Given the description of an element on the screen output the (x, y) to click on. 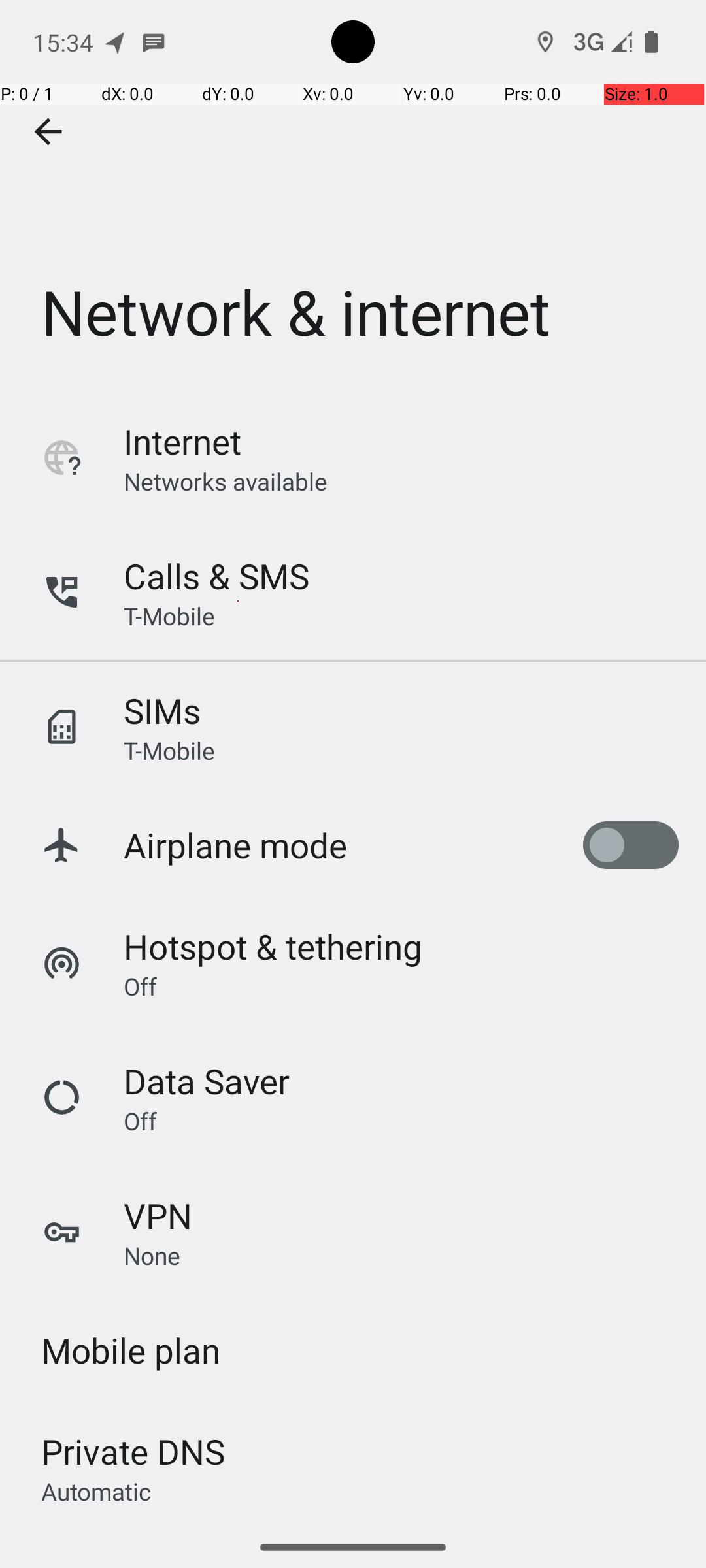
Internet Element type: android.widget.TextView (182, 441)
Networks available Element type: android.widget.TextView (225, 480)
Calls & SMS Element type: android.widget.TextView (216, 575)
T-Mobile Element type: android.widget.TextView (169, 615)
SIMs Element type: android.widget.TextView (161, 710)
Airplane mode Element type: android.widget.TextView (235, 844)
Hotspot & tethering Element type: android.widget.TextView (272, 946)
Data Saver Element type: android.widget.TextView (206, 1080)
VPN Element type: android.widget.TextView (157, 1215)
Mobile plan Element type: android.widget.TextView (130, 1349)
Private DNS Element type: android.widget.TextView (132, 1451)
Automatic Element type: android.widget.TextView (96, 1490)
SMS Messenger notification: Noa Mohamed Element type: android.widget.ImageView (153, 41)
